Given the description of an element on the screen output the (x, y) to click on. 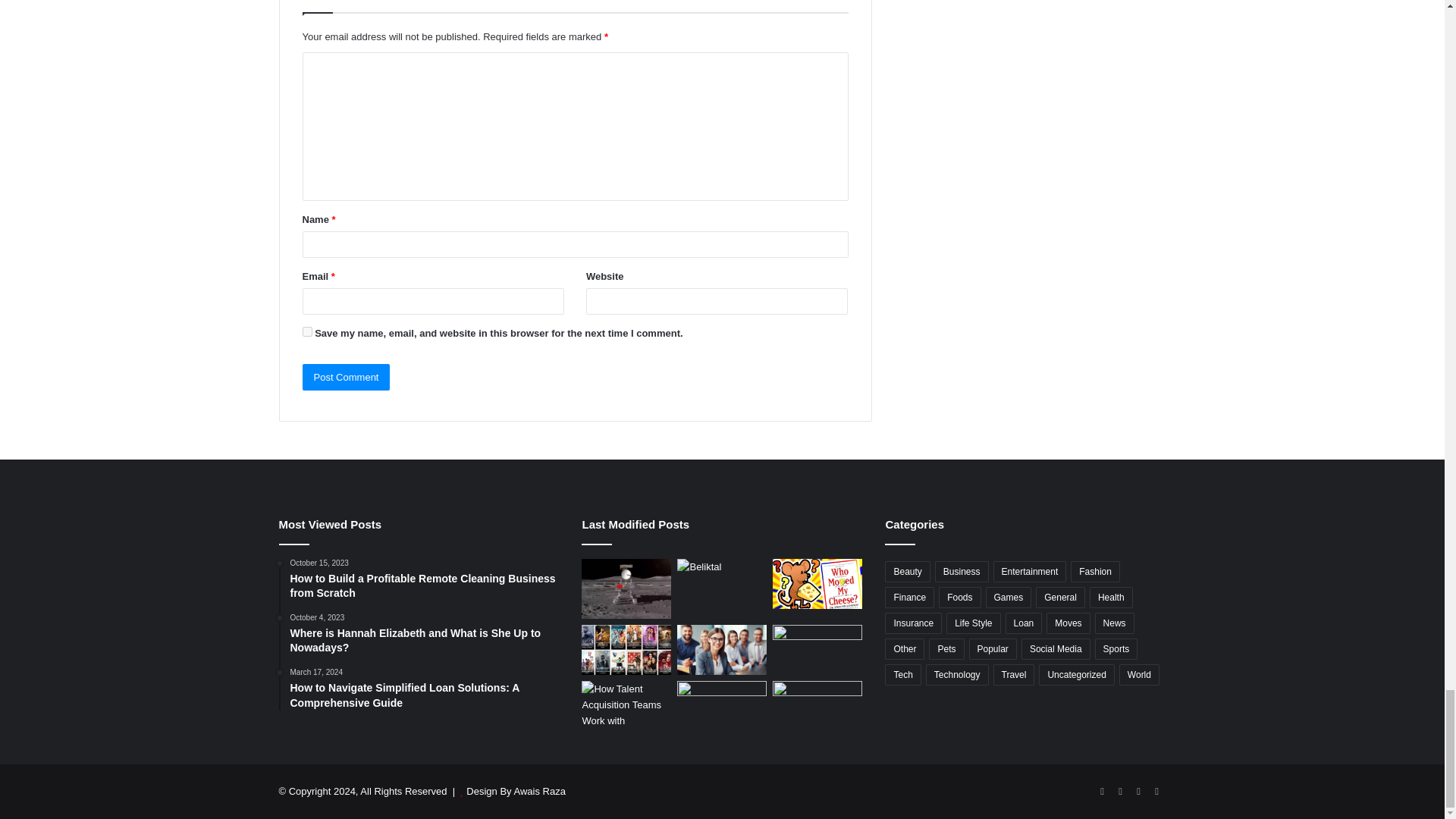
Post Comment (345, 376)
yes (306, 331)
